Given the description of an element on the screen output the (x, y) to click on. 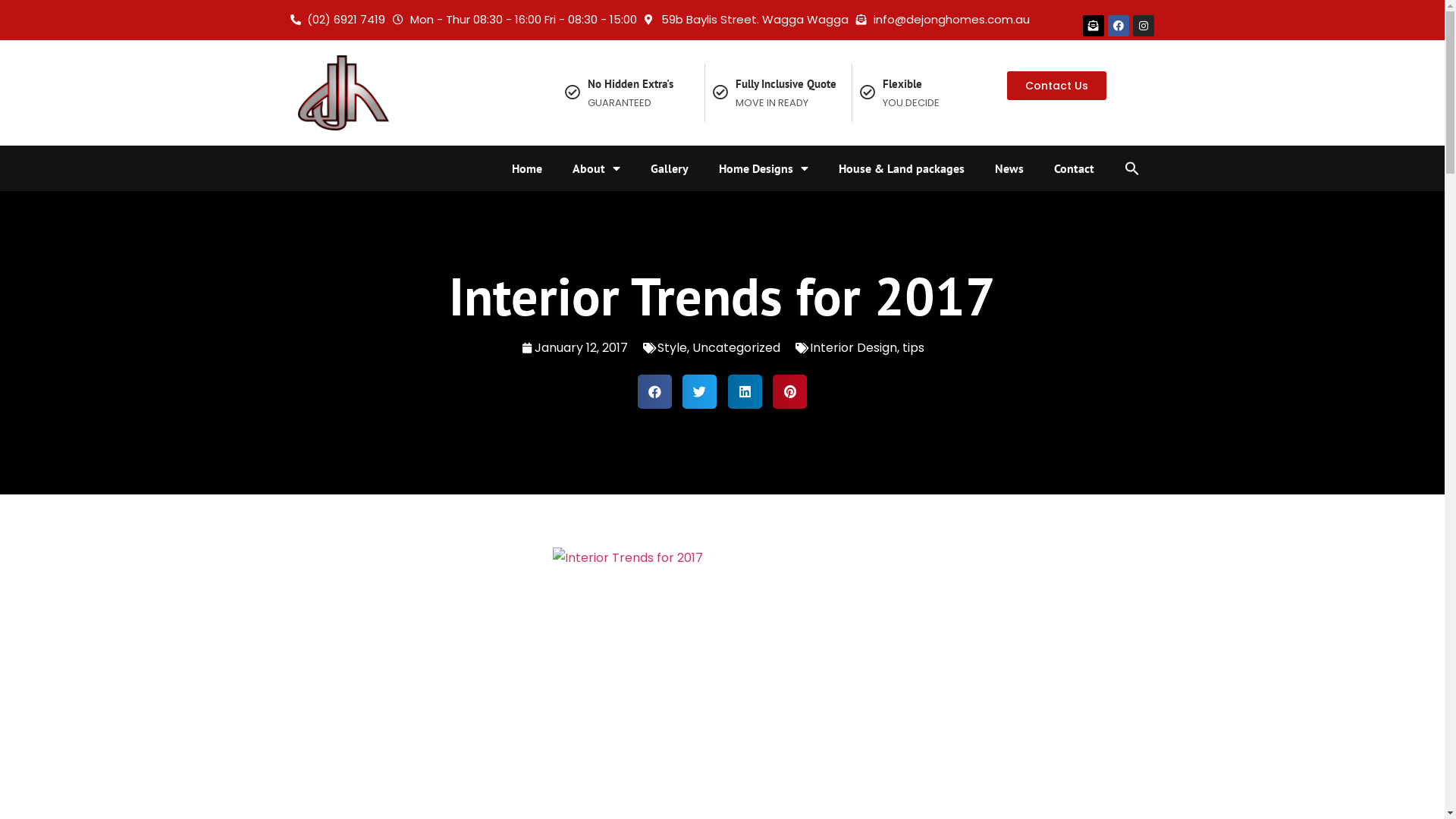
tips Element type: text (913, 347)
About Element type: text (595, 168)
House & Land packages Element type: text (901, 168)
info@dejonghomes.com.au Element type: text (942, 20)
(02) 6921 7419 Element type: text (337, 20)
Style Element type: text (672, 347)
Gallery Element type: text (669, 168)
Home Designs Element type: text (763, 168)
January 12, 2017 Element type: text (573, 348)
Contact Element type: text (1073, 168)
Contact Us Element type: text (1056, 85)
News Element type: text (1008, 168)
Interior Design Element type: text (853, 347)
Uncategorized Element type: text (736, 347)
Home Element type: text (525, 168)
